Given the description of an element on the screen output the (x, y) to click on. 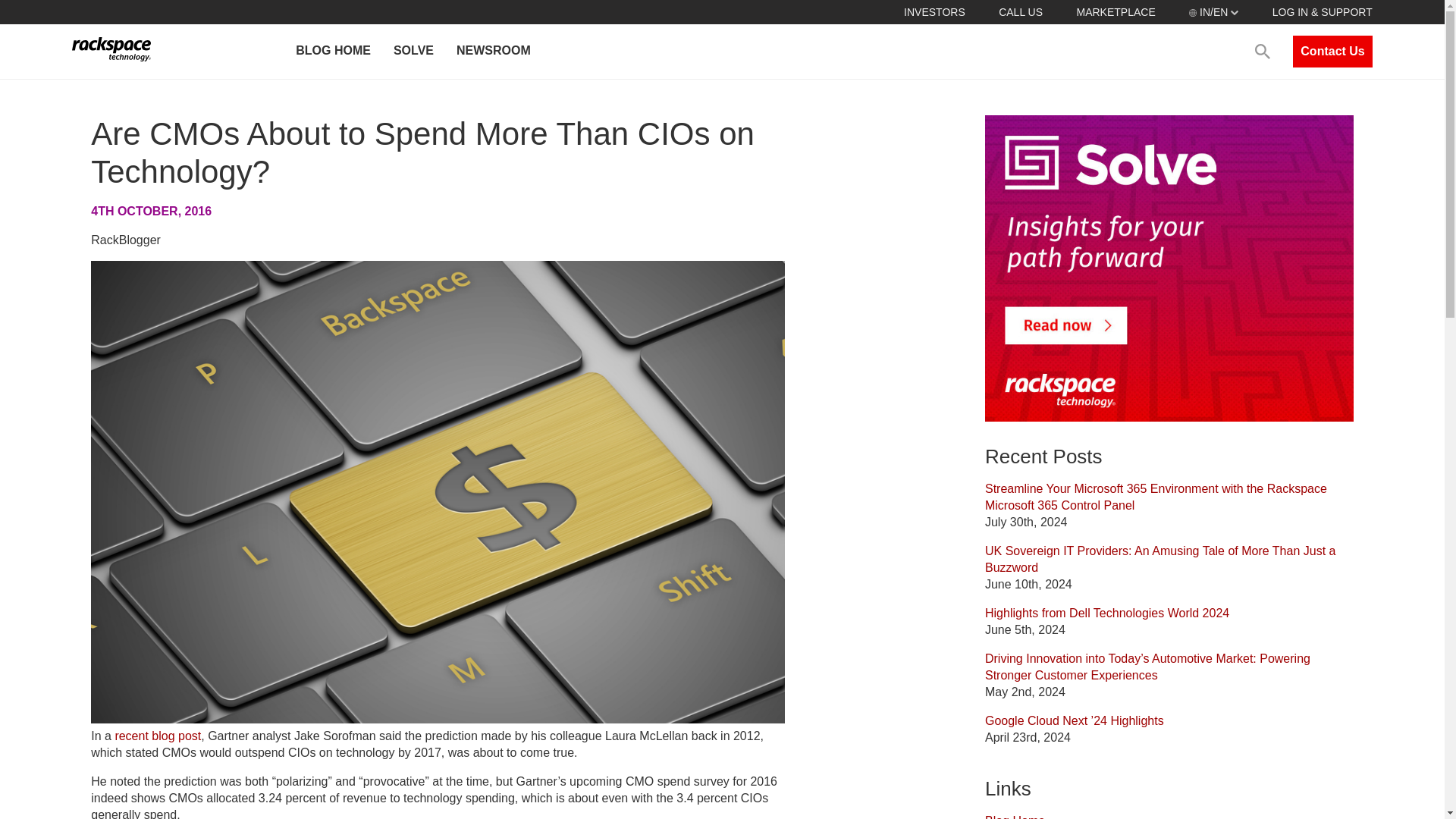
BLOG HOME (332, 51)
MARKETPLACE (1114, 11)
SOLVE (413, 51)
recent blog post (157, 735)
Highlights from Dell Technologies World 2024 (1106, 612)
INVESTORS (934, 11)
Blog Home (1015, 816)
Contact Us (1331, 51)
CALL US (1020, 11)
NEWSROOM (493, 51)
